Given the description of an element on the screen output the (x, y) to click on. 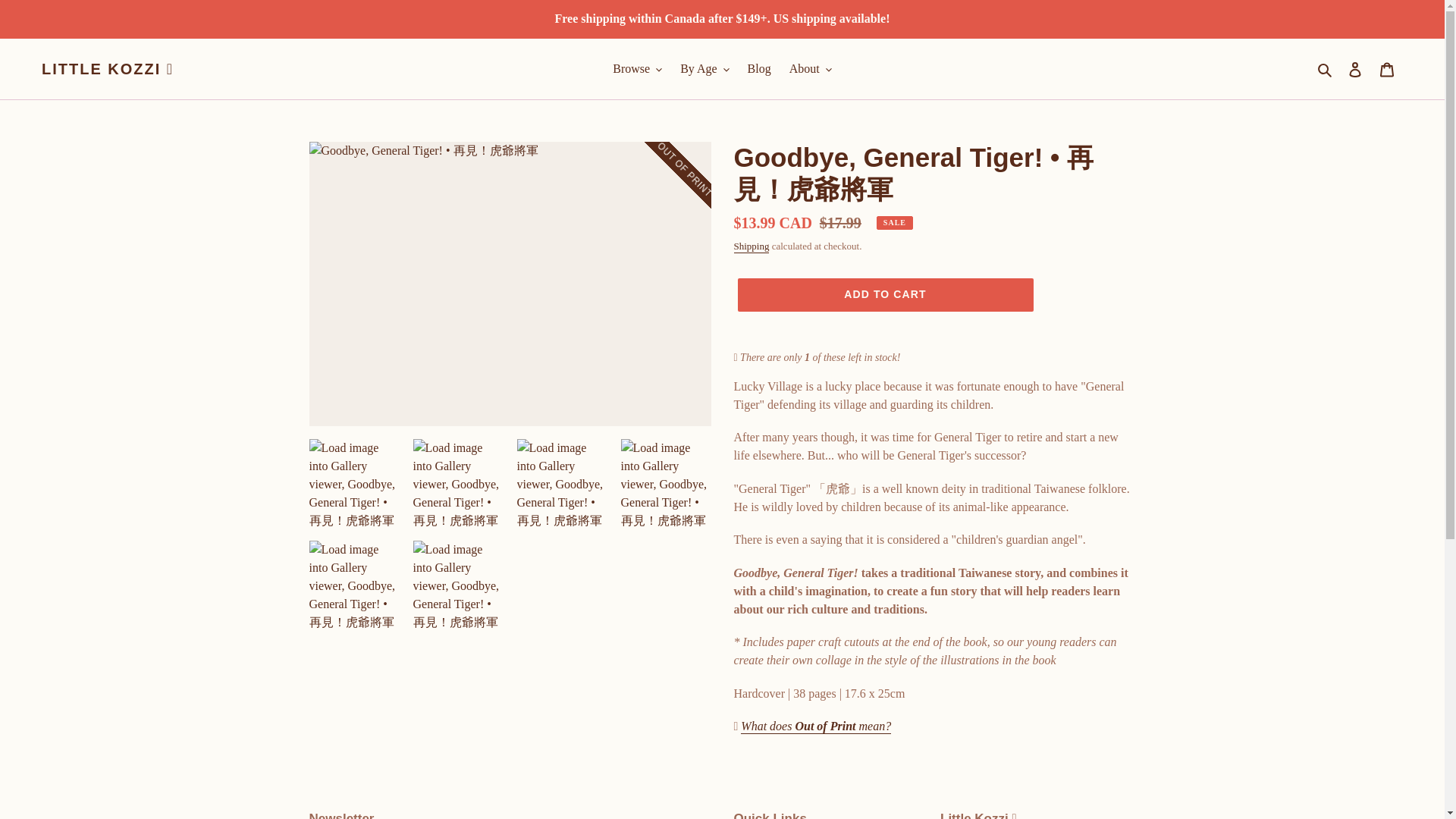
About (810, 68)
Blog (758, 68)
Browse (637, 68)
By Age (704, 68)
